Given the description of an element on the screen output the (x, y) to click on. 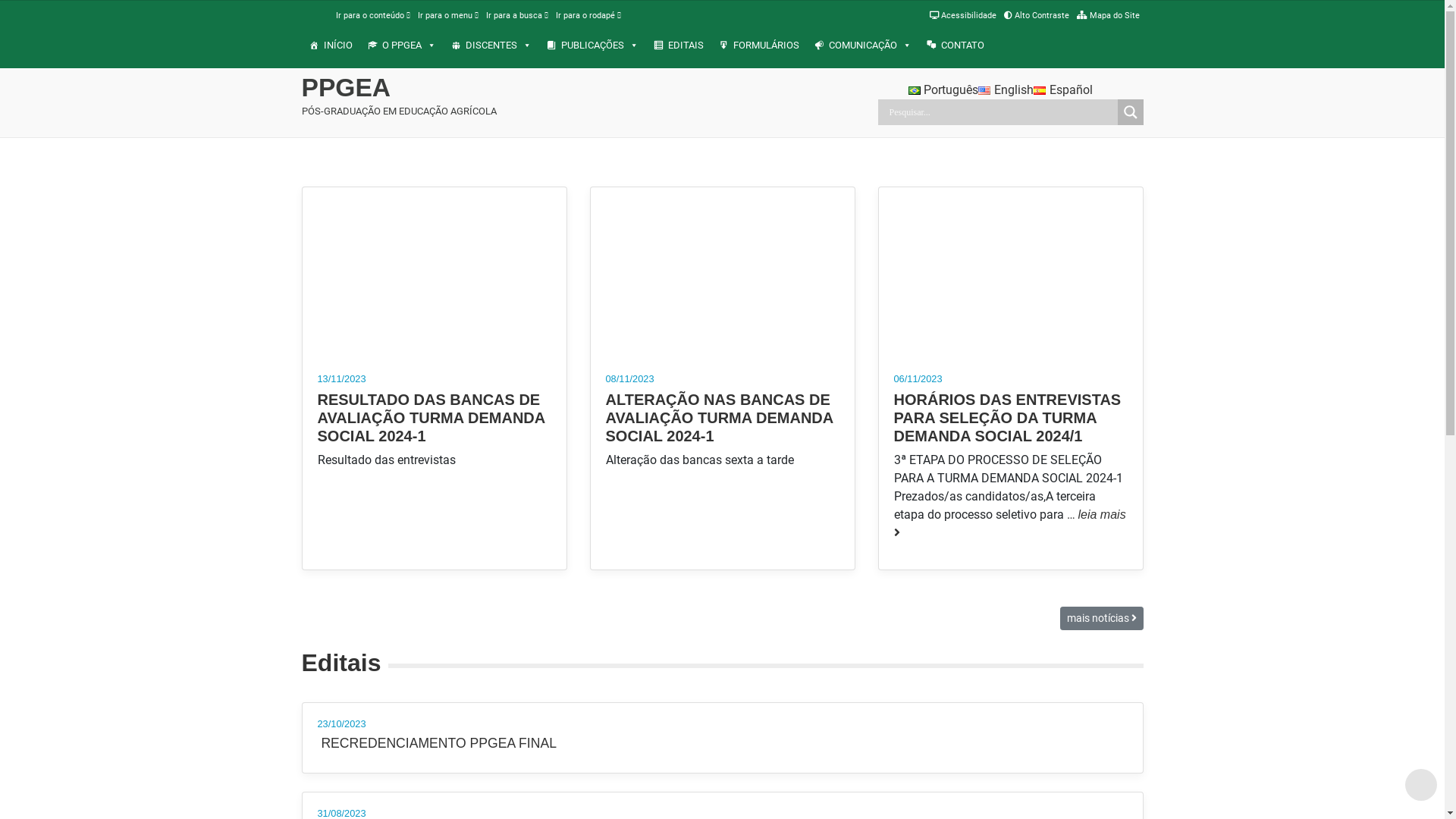
Alto Contraste Element type: text (1036, 15)
O PPGEA Element type: text (400, 45)
Acessibilidade Element type: text (962, 15)
EDITAIS Element type: text (678, 45)
Mapa do Site Element type: text (1107, 15)
CONTATO Element type: text (955, 45)
PPGEA Element type: text (470, 87)
RECREDENCIAMENTO PPGEA FINAL Element type: text (435, 742)
Editais Element type: text (341, 662)
DISCENTES Element type: text (490, 45)
English Element type: text (1005, 89)
